Given the description of an element on the screen output the (x, y) to click on. 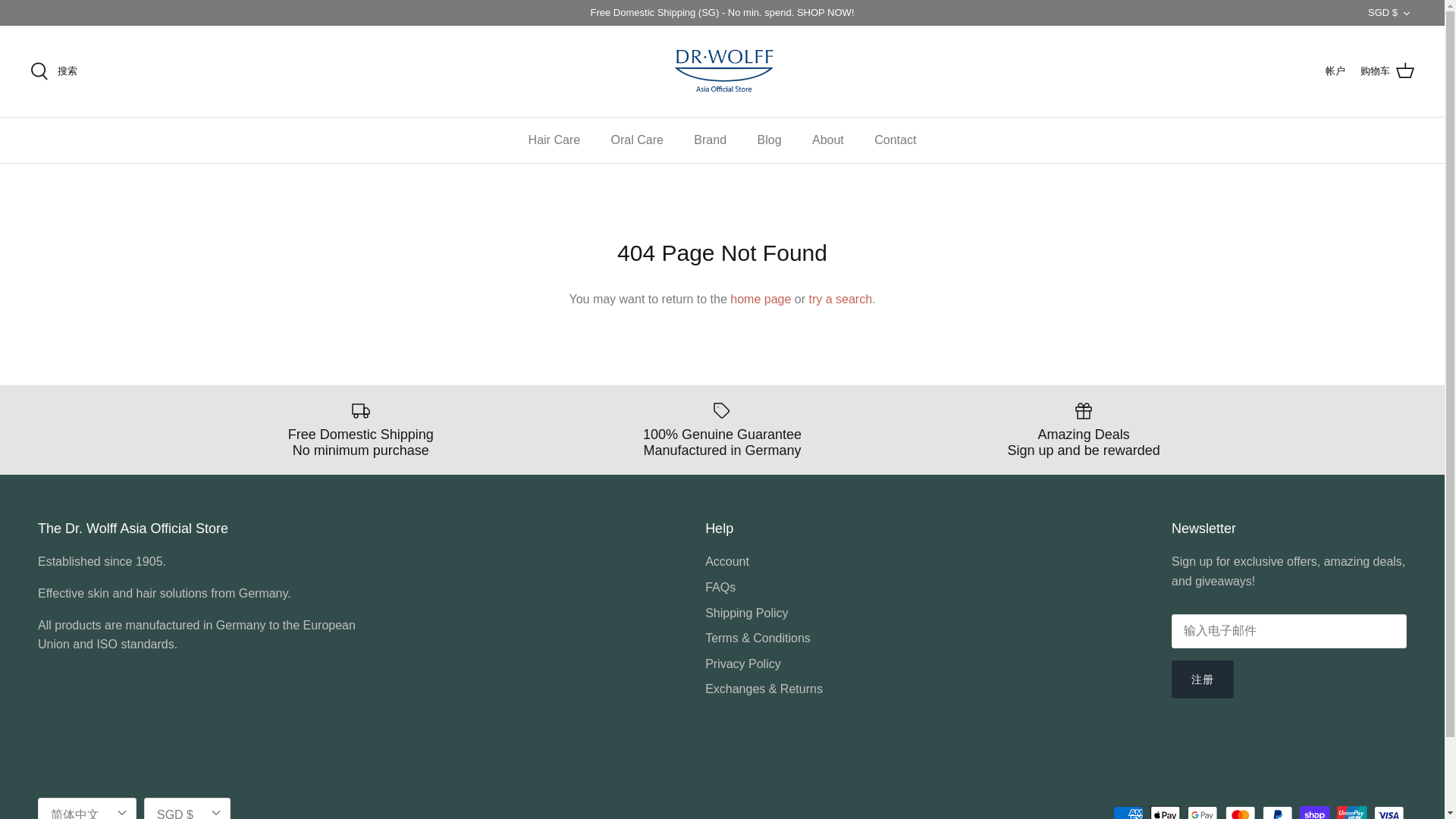
Apple Pay (1165, 812)
Down (215, 812)
Label (721, 411)
Mastercard (1240, 812)
Shop Pay (1314, 812)
Down (1406, 13)
PayPal (1277, 812)
Google Pay (1202, 812)
American Express (1127, 812)
Union Pay (1351, 812)
Visa (1388, 812)
Down (122, 812)
Hair Care (554, 139)
